Given the description of an element on the screen output the (x, y) to click on. 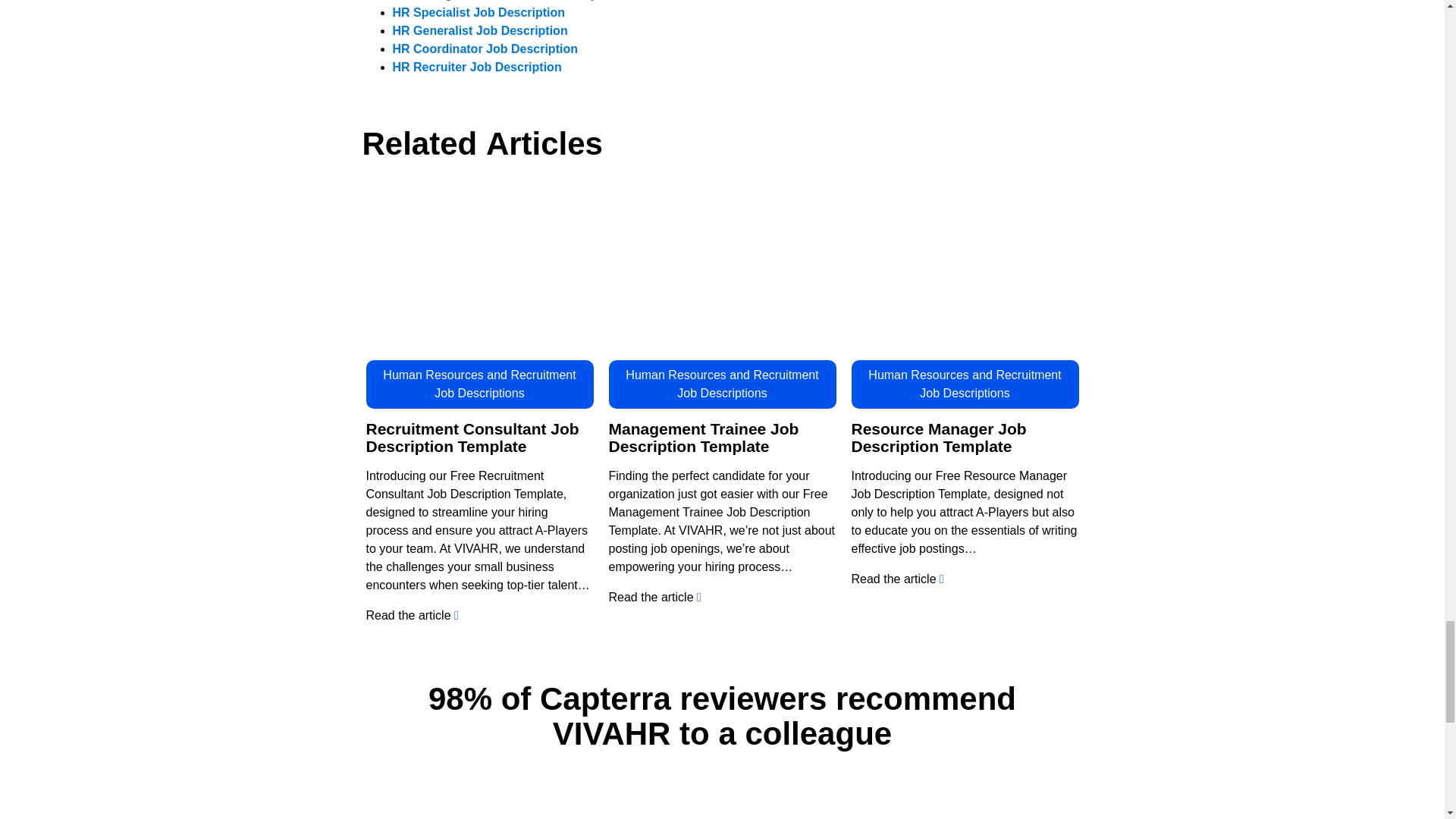
Staffing Coordinator Job Description Template (474, 814)
Staffing Coordinator Job Description Template (722, 814)
Staffing Coordinator Job Description Template (970, 814)
